Given the description of an element on the screen output the (x, y) to click on. 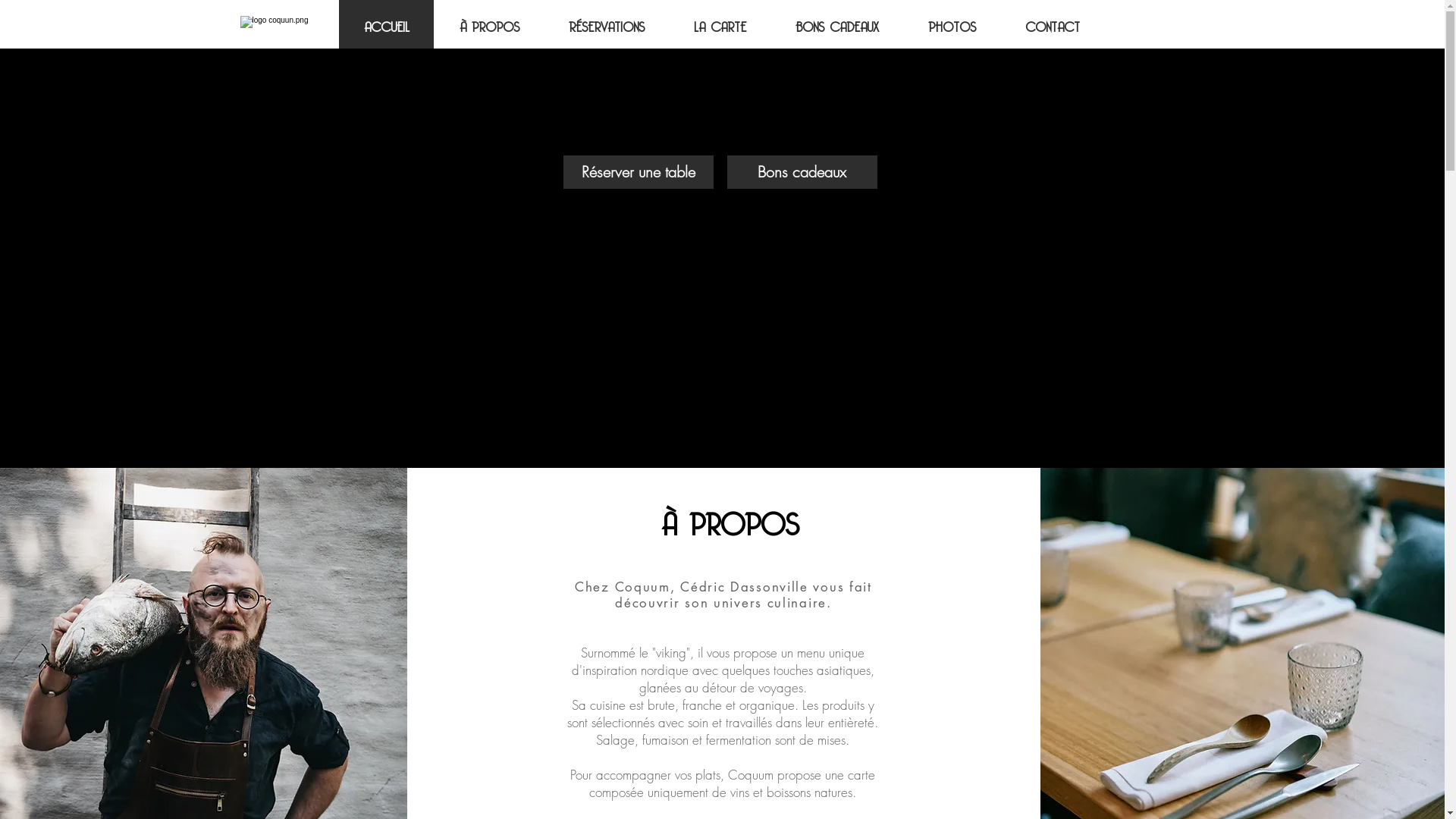
LA CARTE Element type: text (719, 24)
ACCUEIL Element type: text (385, 24)
BONS CADEAUX Element type: text (836, 24)
Bons cadeaux Element type: text (801, 171)
CONTACT Element type: text (1052, 24)
logo_coquum_noir.png Element type: hover (719, 105)
PHOTOS Element type: text (951, 24)
